Given the description of an element on the screen output the (x, y) to click on. 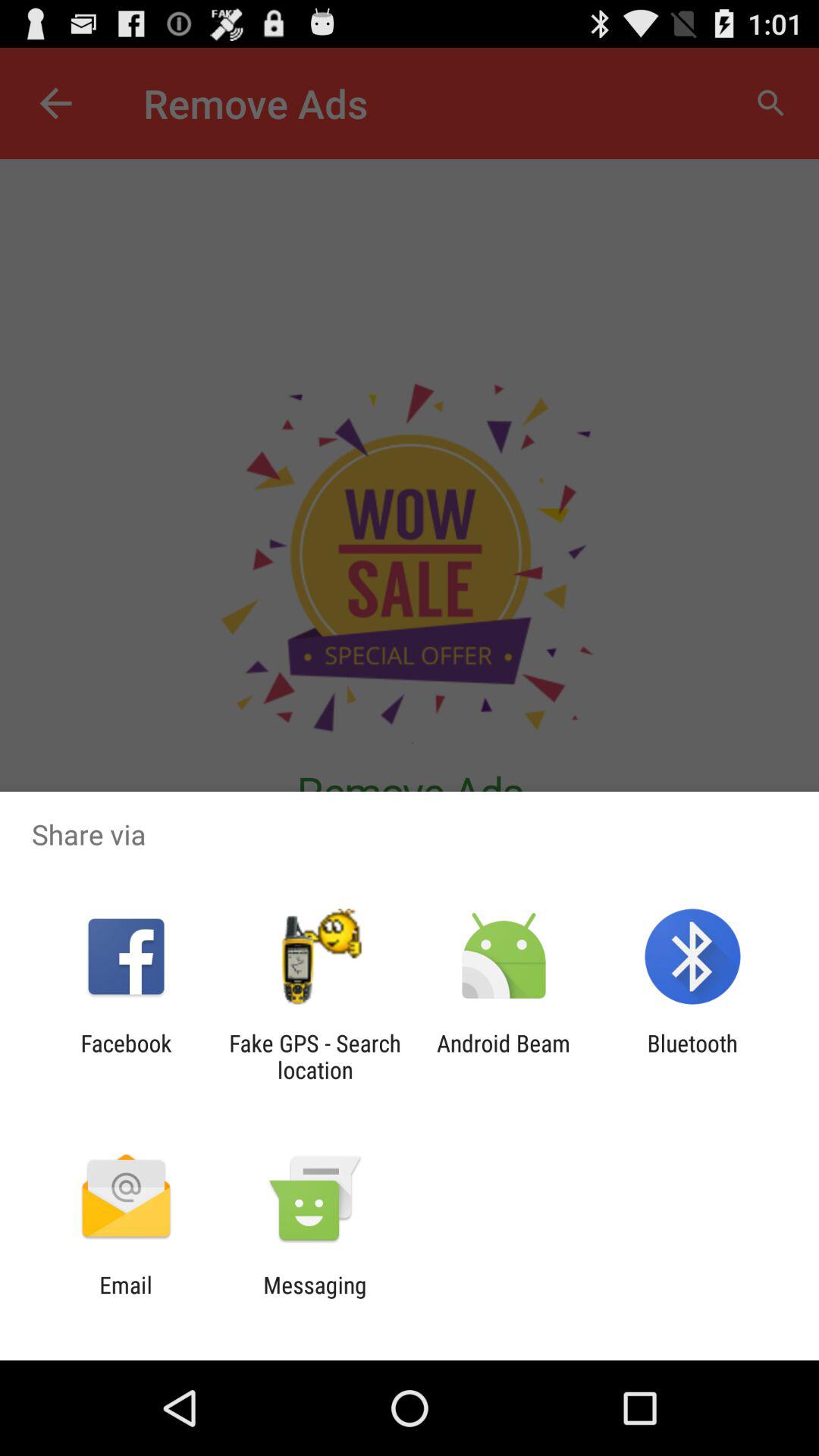
click app next to the messaging app (125, 1298)
